Given the description of an element on the screen output the (x, y) to click on. 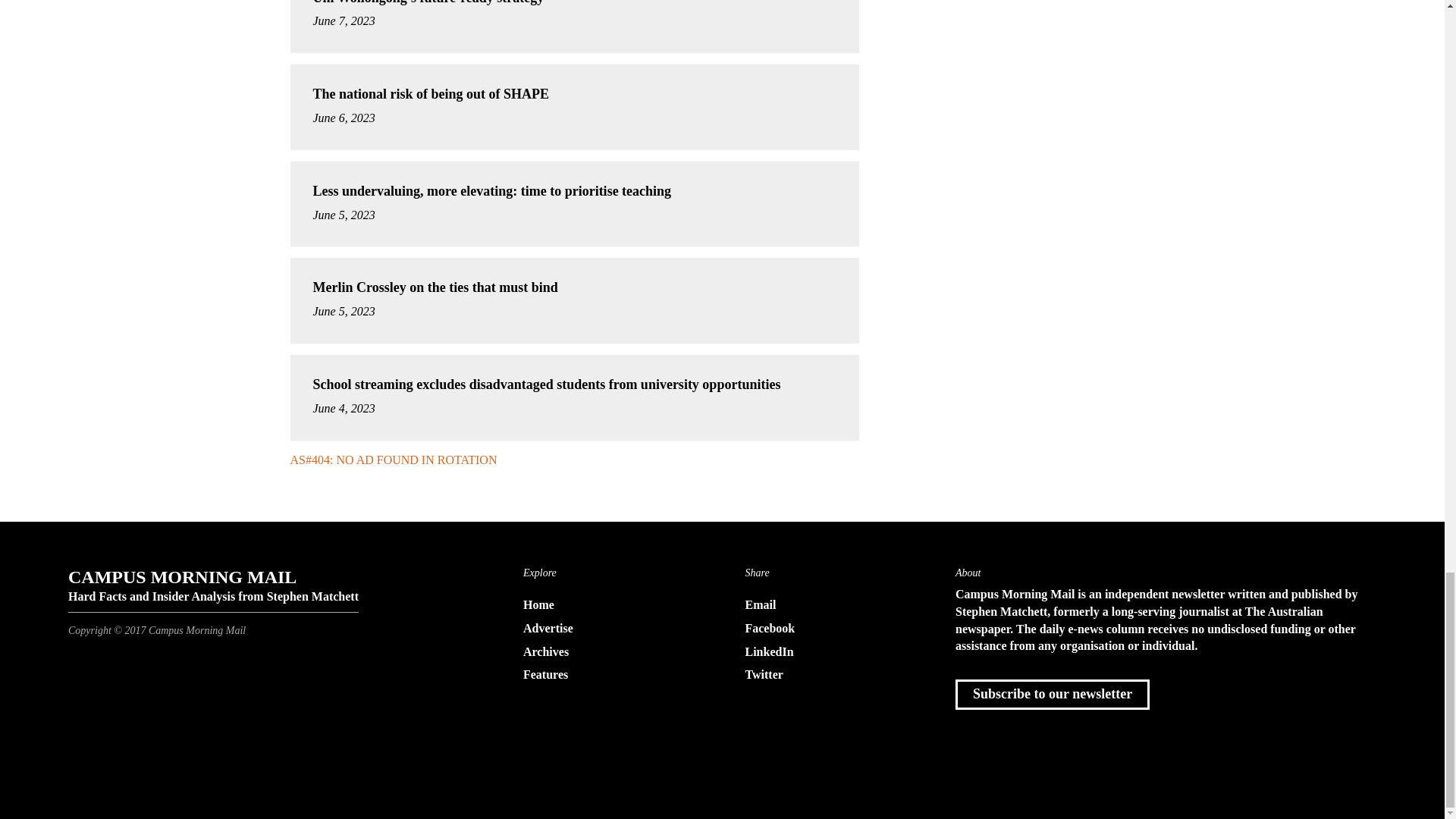
Email (833, 605)
The national risk of being out of SHAPE (430, 93)
Archives (611, 652)
Subscribe to our newsletter (1052, 694)
LinkedIn (833, 652)
Home (611, 605)
LinkedIn (833, 652)
Archives (611, 652)
Merlin Crossley on the ties that must bind (435, 287)
